Given the description of an element on the screen output the (x, y) to click on. 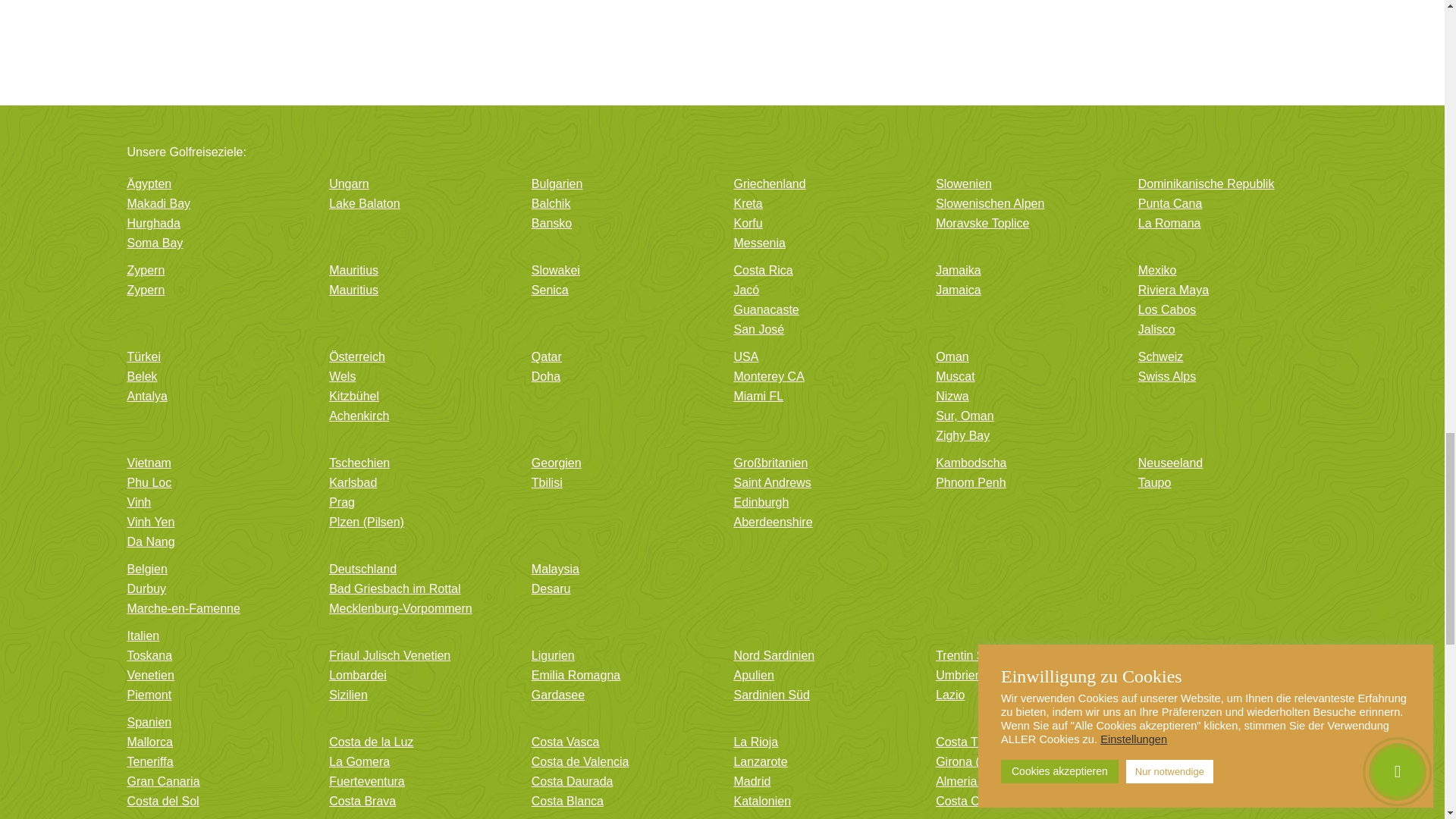
Piemont (217, 697)
Toskana (217, 658)
Italien (722, 638)
Friaul Julisch Venetien (418, 658)
Venetien (217, 677)
